Given the description of an element on the screen output the (x, y) to click on. 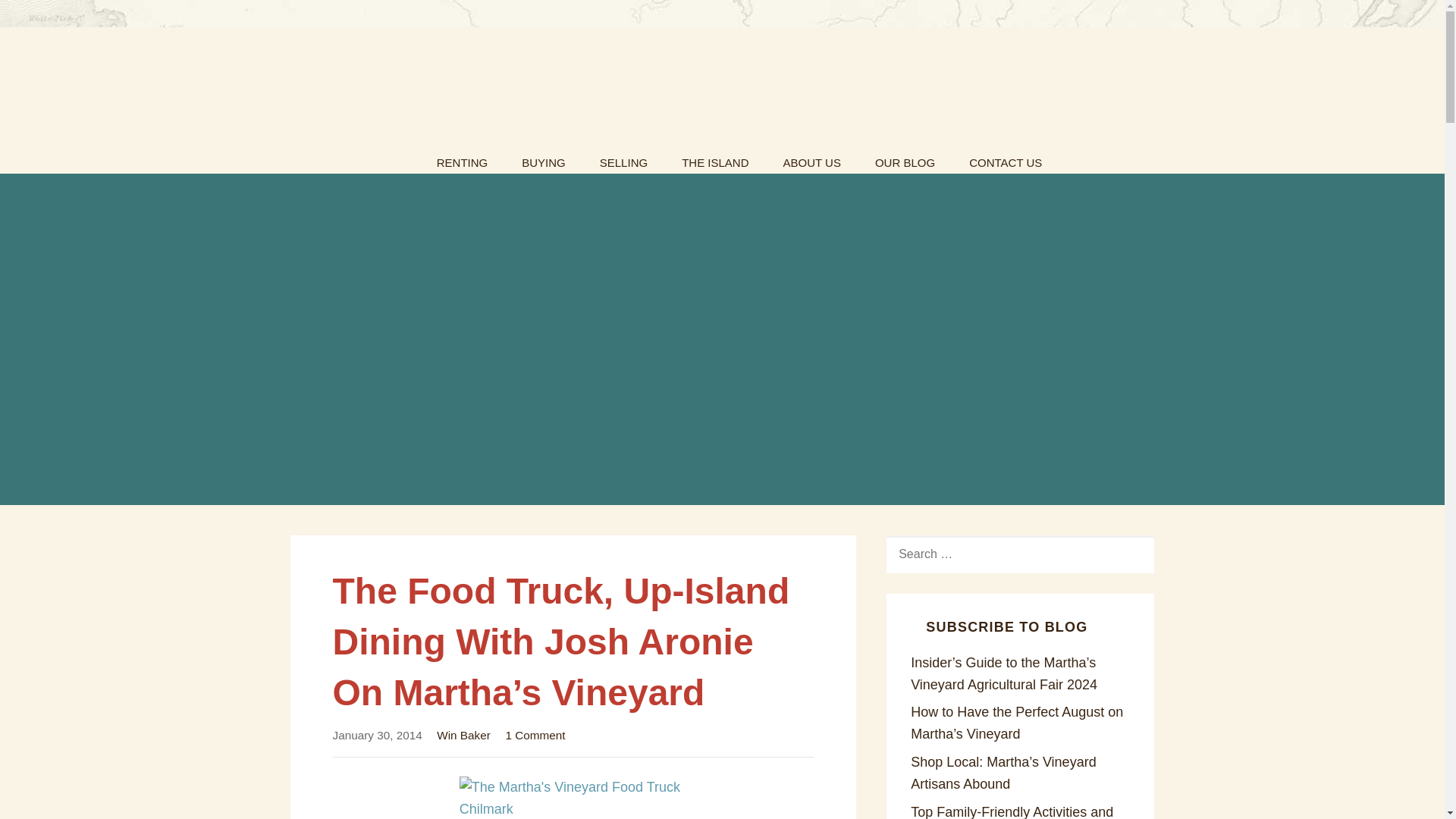
THE ISLAND (714, 157)
Win Baker (463, 735)
Posts by Win Baker (463, 735)
RENTING (462, 157)
1 Comment (534, 735)
ABOUT US (812, 157)
CONTACT US (1005, 157)
OUR BLOG (905, 157)
The Martha's Vineyard Food Truck Chilmark (573, 797)
SELLING (623, 157)
